Given the description of an element on the screen output the (x, y) to click on. 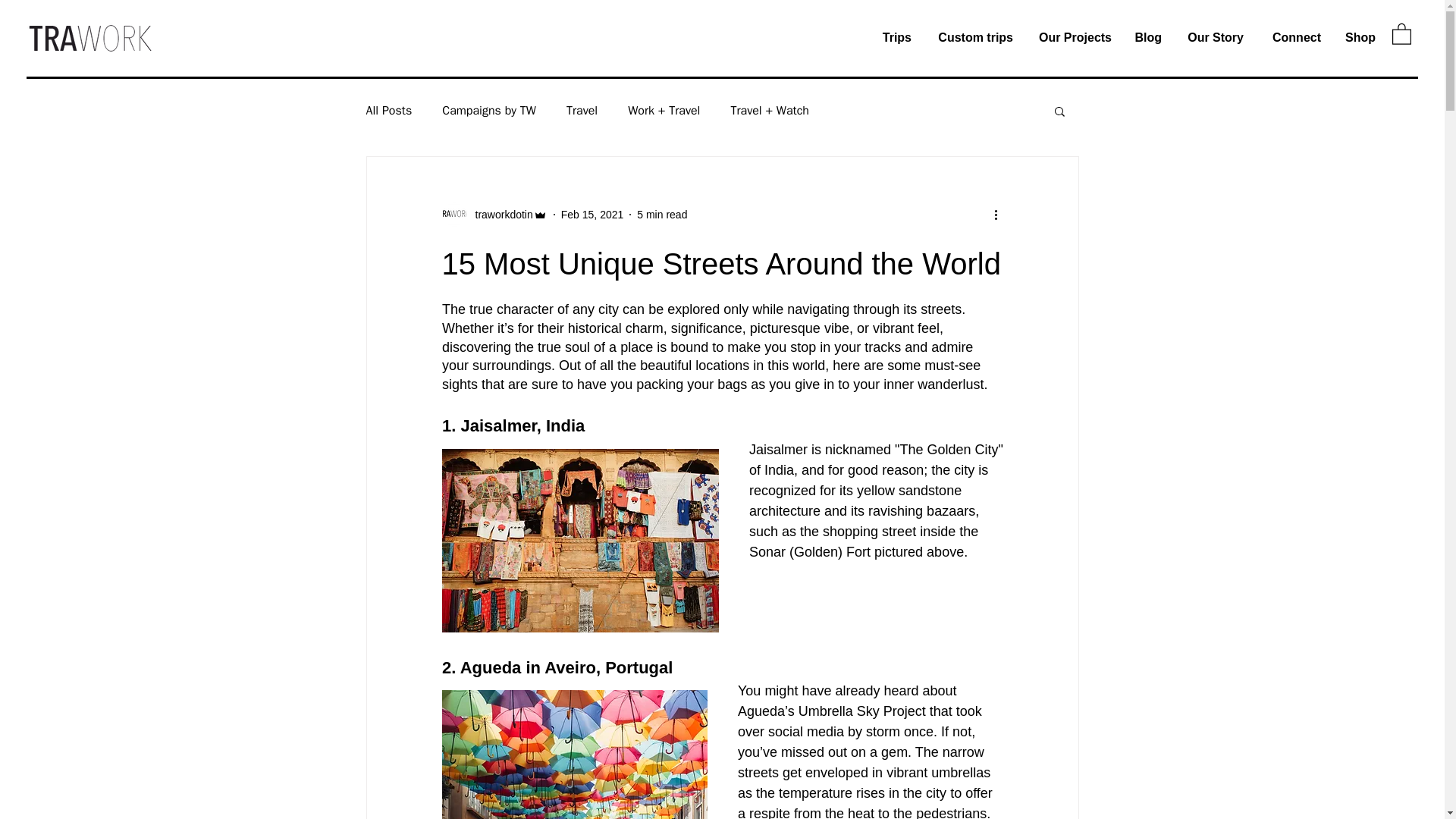
Custom trips (974, 37)
Our Story (1214, 37)
traworkdotin (498, 213)
traworkdotin (494, 214)
5 min read (662, 214)
Campaigns by TW (488, 110)
Blog (1147, 37)
logo.png (90, 37)
Connect (1293, 37)
Our Projects (1073, 37)
All Posts (388, 110)
Shop (1359, 37)
Feb 15, 2021 (592, 214)
Travel (581, 110)
Trips (896, 37)
